Given the description of an element on the screen output the (x, y) to click on. 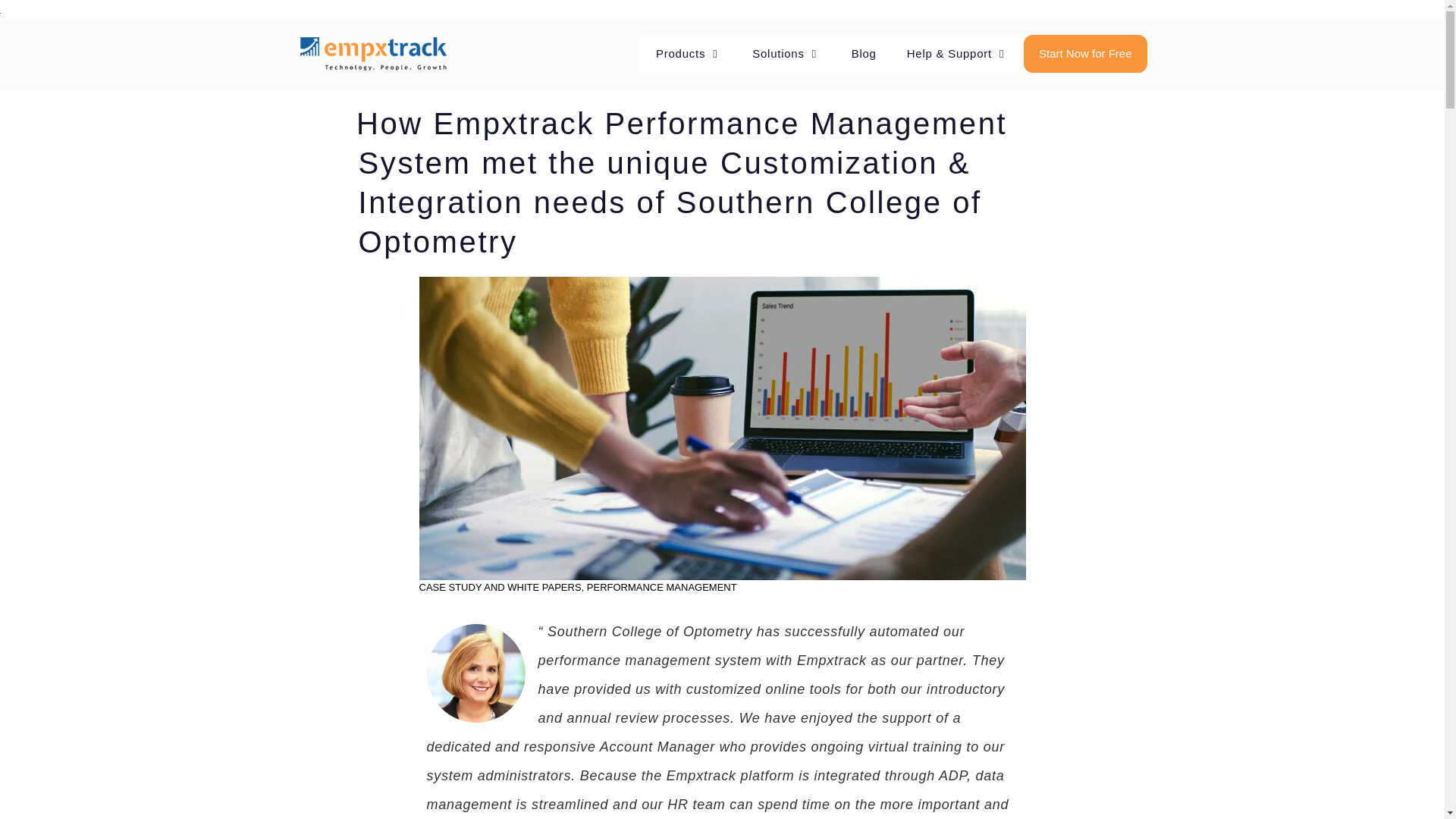
Products (688, 53)
Start Now for Free (1085, 53)
Blog (863, 53)
Solutions (785, 53)
